Given the description of an element on the screen output the (x, y) to click on. 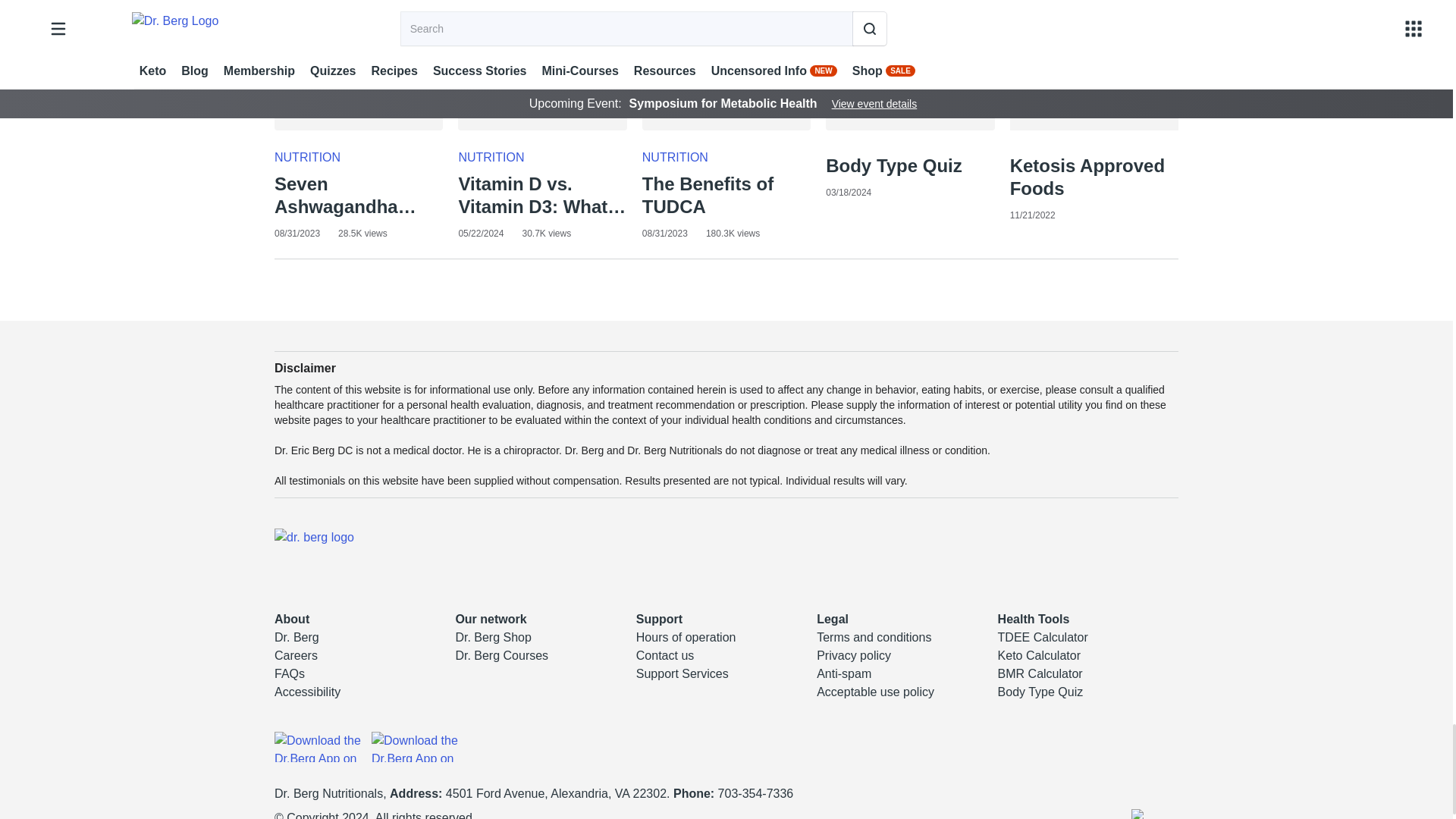
NUTRITION (491, 156)
NUTRITION (674, 156)
NUTRITION (307, 156)
The Benefits of TUDCA (726, 195)
Seven Ashwagandha Benefits for Female Health (358, 195)
